Given the description of an element on the screen output the (x, y) to click on. 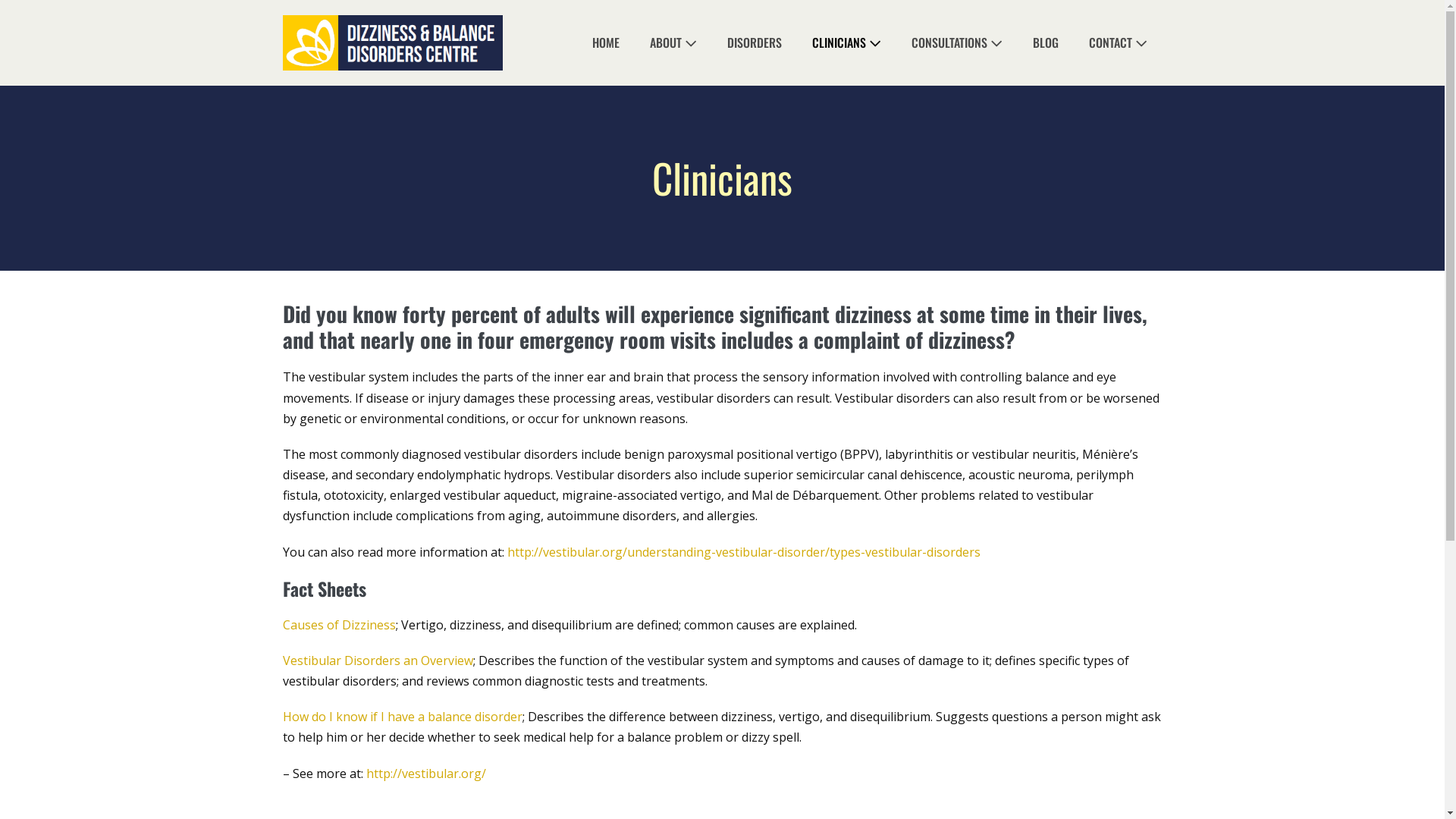
Causes of Dizziness Element type: text (338, 624)
DISORDERS Element type: text (753, 42)
How do I know if I have a balance disorder Element type: text (401, 716)
HOME Element type: text (604, 42)
ABOUT Element type: text (672, 42)
Vestibular Disorders an Overview Element type: text (377, 660)
http://vestibular.org/ Element type: text (425, 773)
CONSULTATIONS Element type: text (956, 42)
CLINICIANS Element type: text (845, 42)
Dizziness & Balance Disorders Centre Element type: hover (392, 42)
BLOG Element type: text (1045, 42)
CONTACT Element type: text (1117, 42)
